Given the description of an element on the screen output the (x, y) to click on. 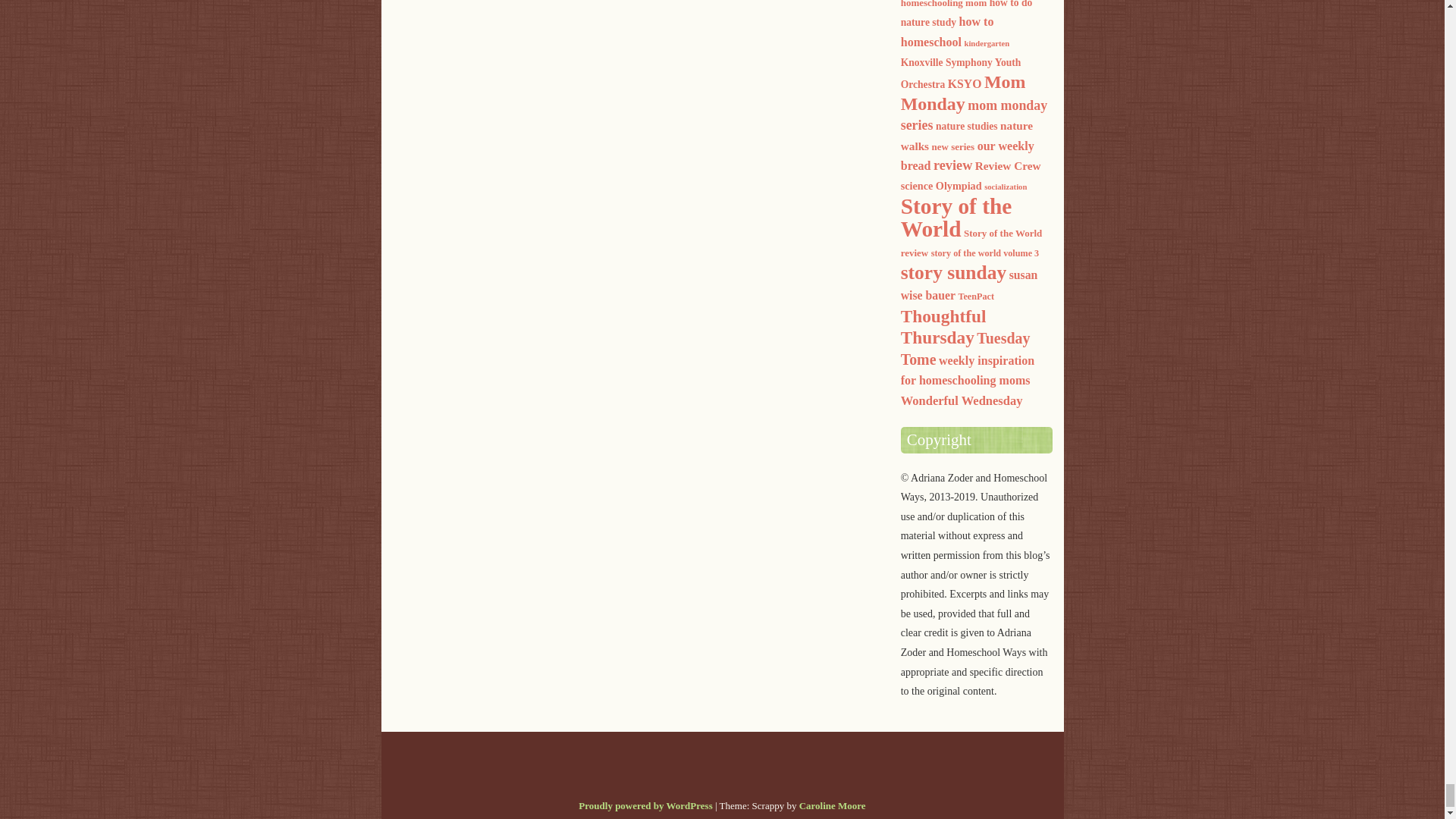
A Semantic Personal Publishing Platform (644, 805)
